Given the description of an element on the screen output the (x, y) to click on. 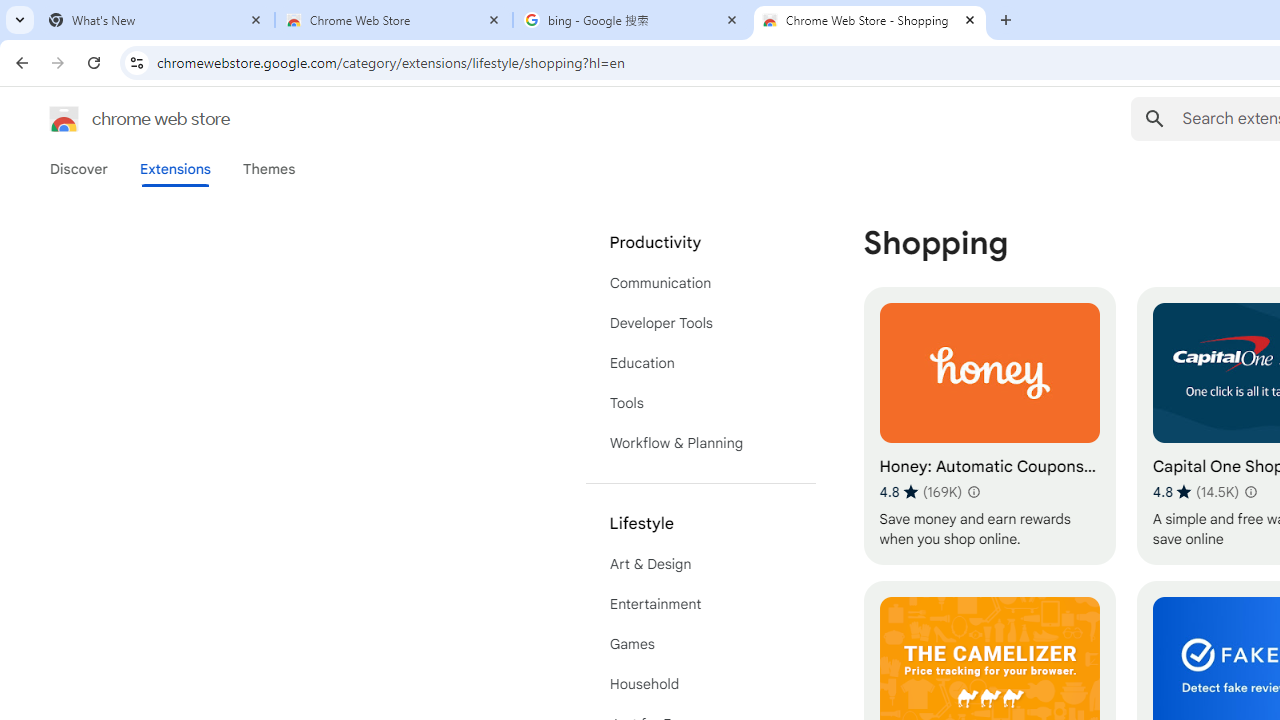
Workflow & Planning (700, 442)
